Given the description of an element on the screen output the (x, y) to click on. 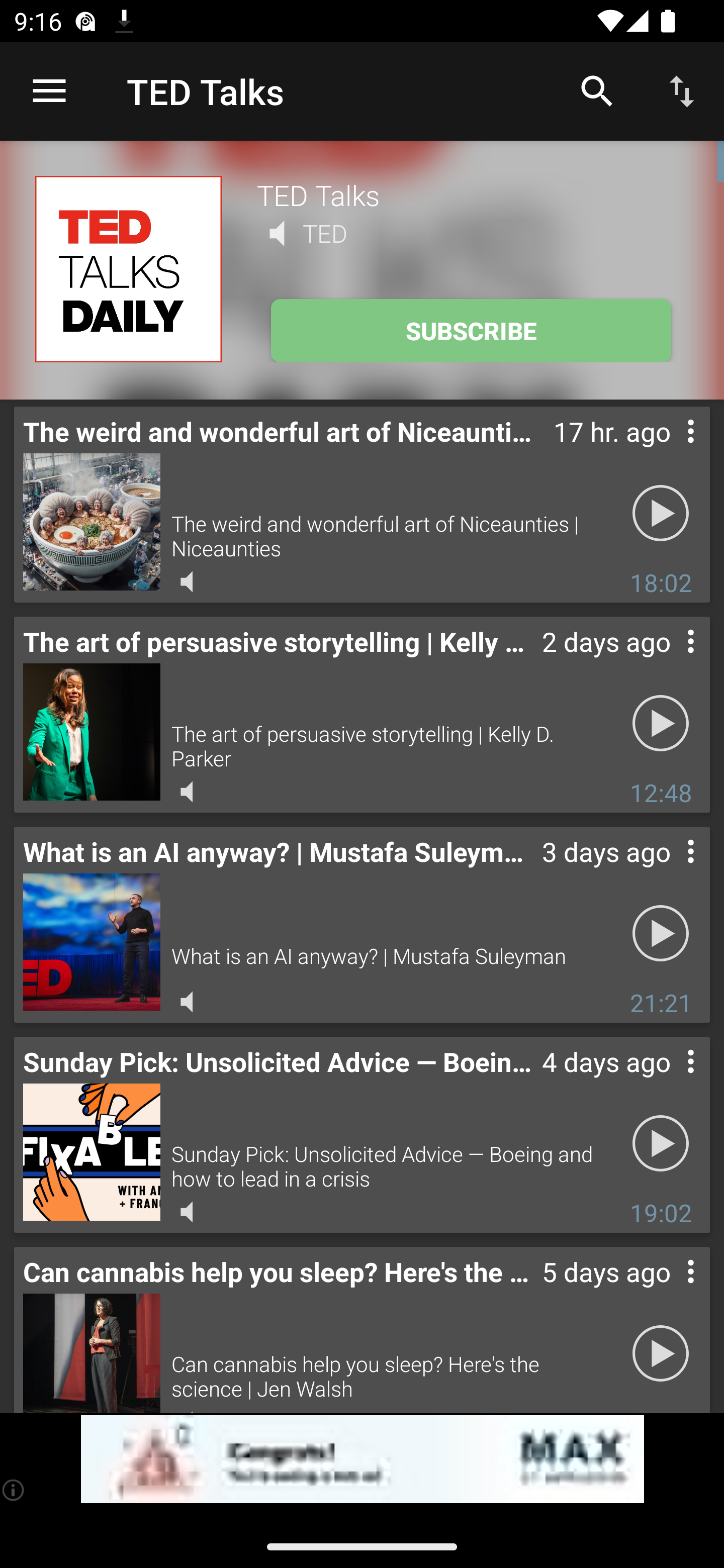
Open navigation sidebar (49, 91)
Search (597, 90)
Sort (681, 90)
SUBSCRIBE (470, 330)
Contextual menu (668, 451)
Play (660, 513)
Contextual menu (668, 661)
Play (660, 723)
Contextual menu (668, 870)
Play (660, 933)
Contextual menu (668, 1080)
Play (660, 1143)
Contextual menu (668, 1290)
Play (660, 1353)
app-monetization (362, 1459)
(i) (14, 1489)
